Given the description of an element on the screen output the (x, y) to click on. 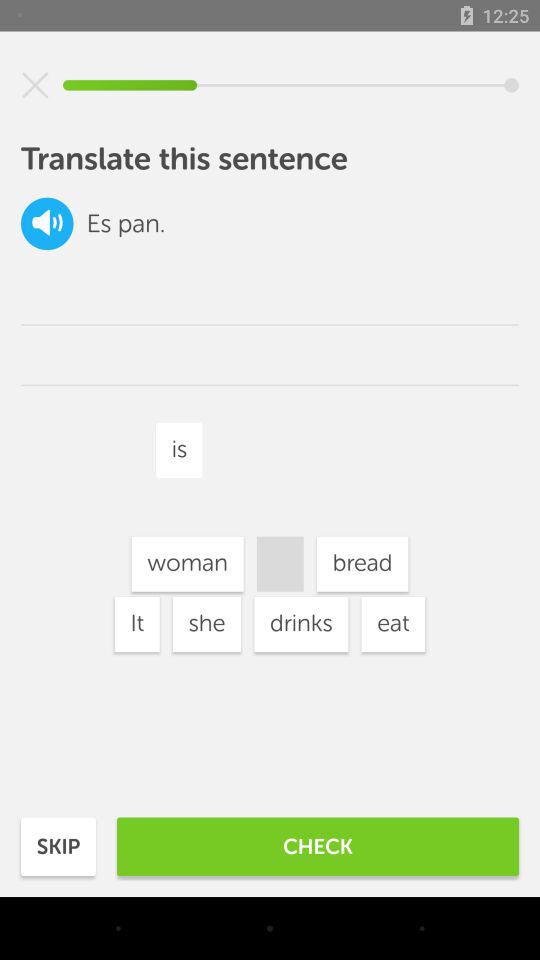
flip until bread (362, 563)
